Given the description of an element on the screen output the (x, y) to click on. 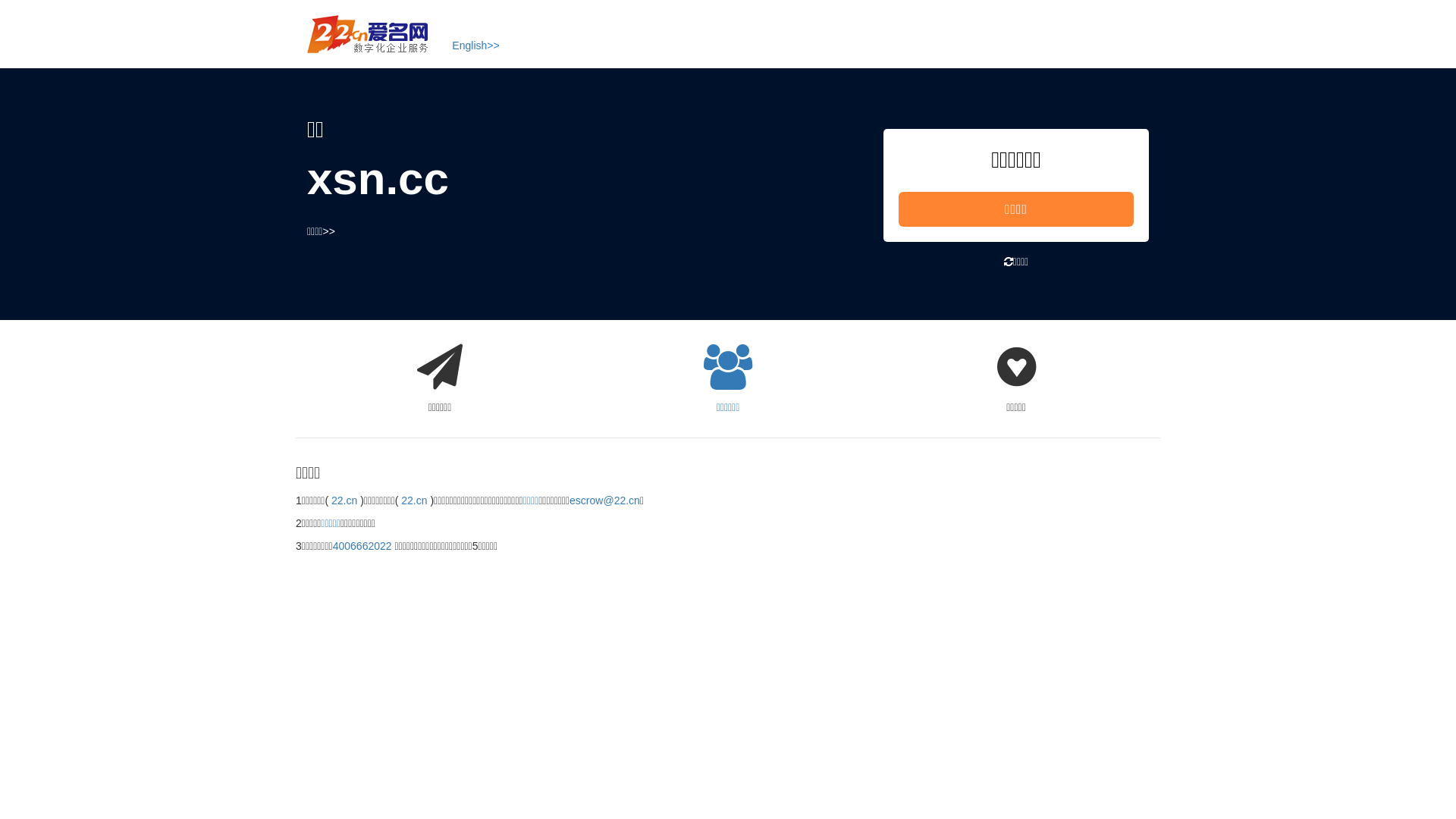
4006662022 Element type: text (362, 545)
22.cn Element type: text (413, 500)
22.cn Element type: text (344, 500)
escrow@22.cn Element type: text (604, 500)
English>> Element type: text (474, 45)
